Given the description of an element on the screen output the (x, y) to click on. 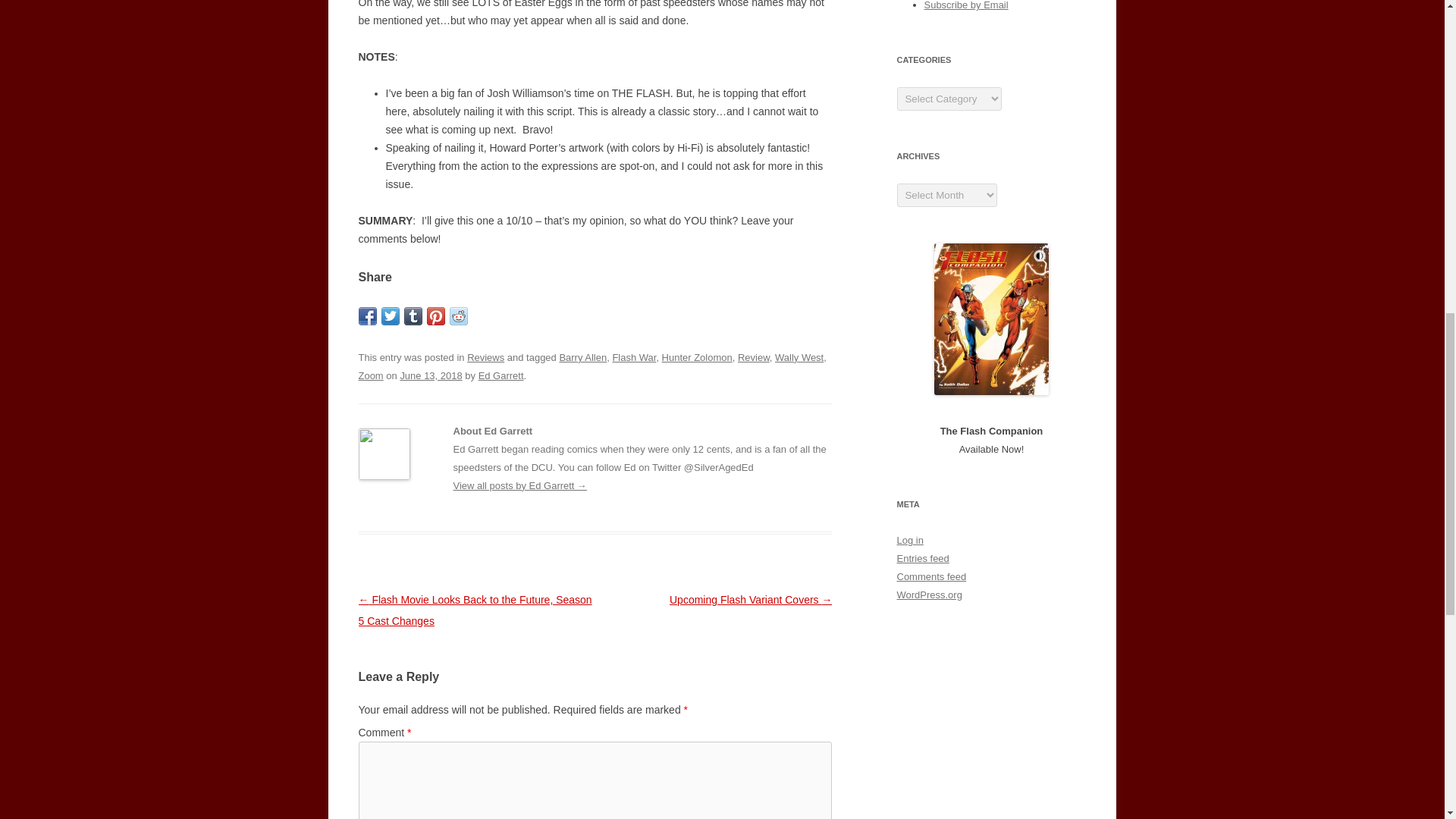
Share on Facebook (366, 316)
Wally West (799, 357)
6:38 pm (429, 375)
Share on Reddit (457, 316)
Reviews (485, 357)
Flash War (633, 357)
Posts by Ed Garrett (501, 375)
Ed Garrett (501, 375)
Share on Twitter (389, 316)
Hunter Zolomon (697, 357)
Barry Allen (583, 357)
June 13, 2018 (429, 375)
Share on Tumblr (412, 316)
Pin It (435, 316)
Zoom (370, 375)
